Given the description of an element on the screen output the (x, y) to click on. 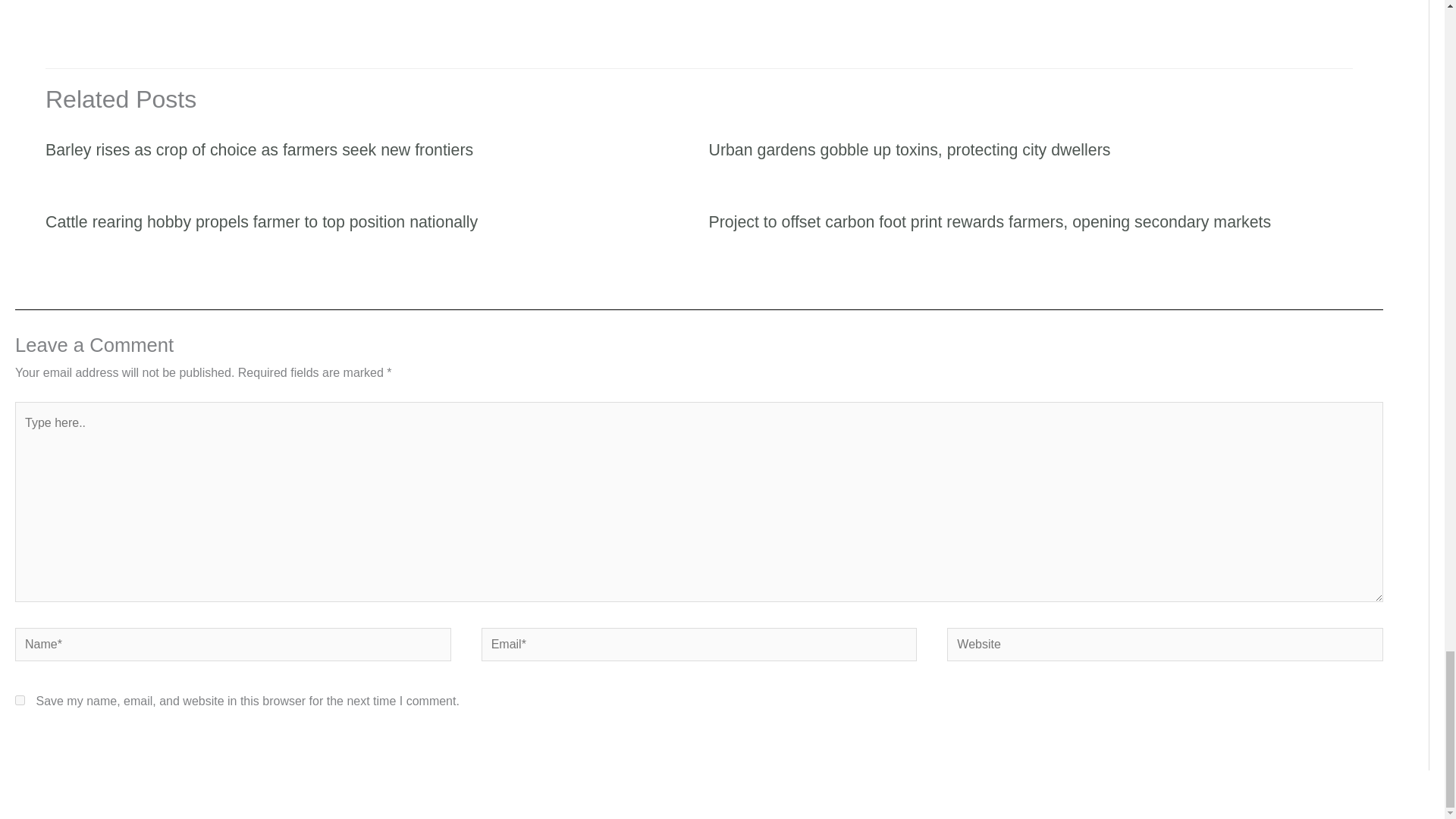
Urban gardens gobble up toxins, protecting city dwellers (908, 149)
yes (19, 700)
Barley rises as crop of choice as farmers seek new frontiers (259, 149)
